Given the description of an element on the screen output the (x, y) to click on. 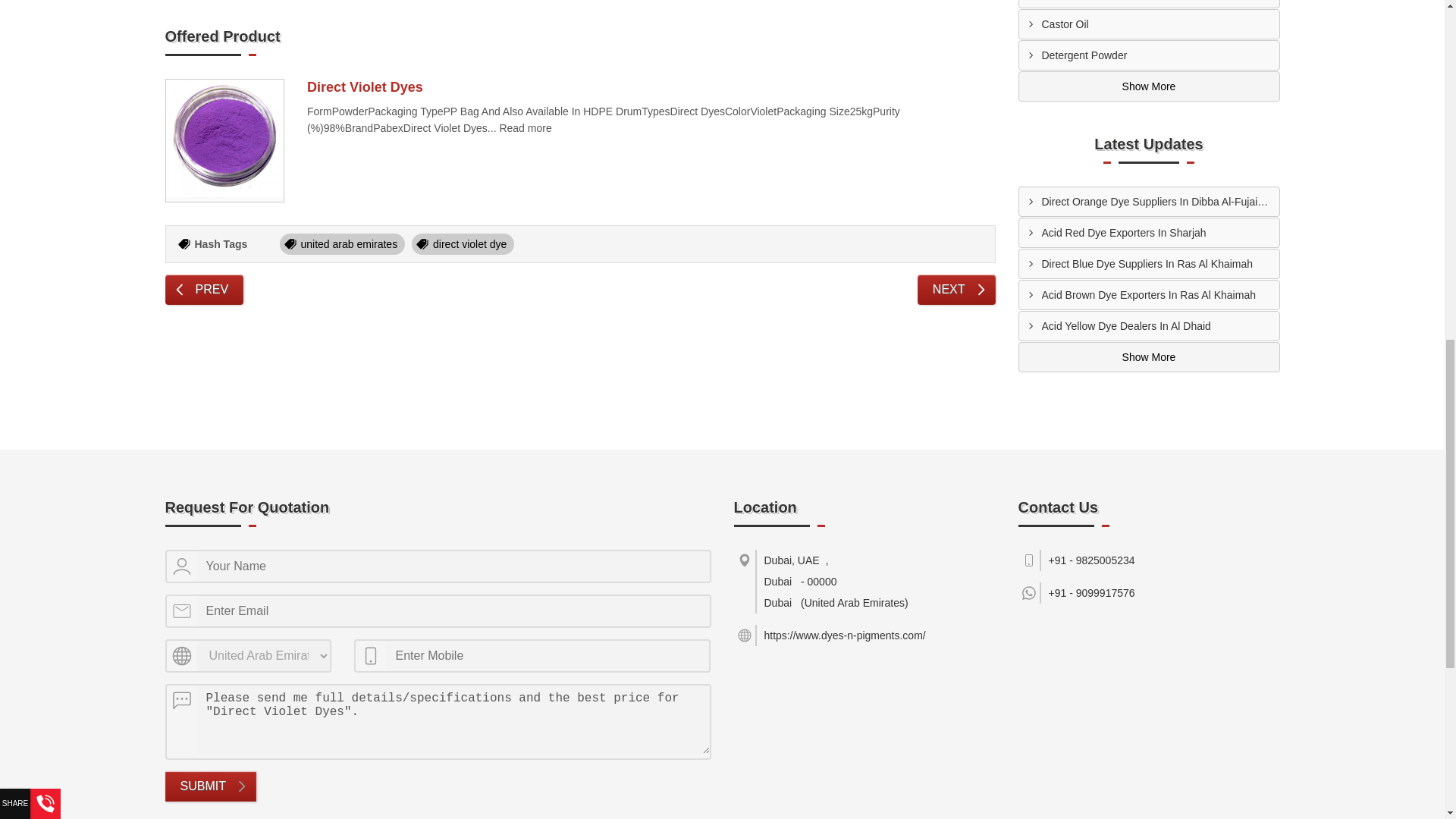
Direct Violet Dyes (224, 137)
Direct Violet Dyes (224, 139)
